Given the description of an element on the screen output the (x, y) to click on. 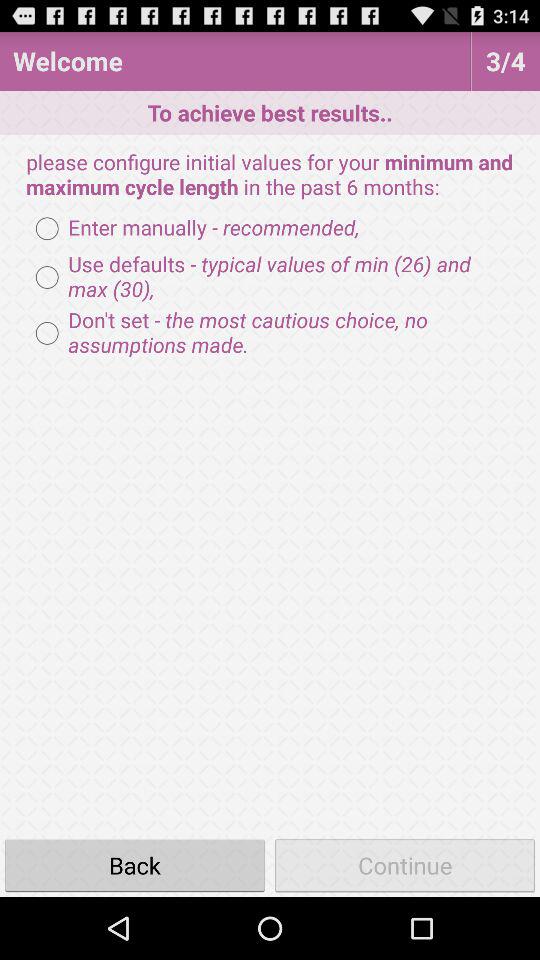
press icon to the right of the back (405, 864)
